Given the description of an element on the screen output the (x, y) to click on. 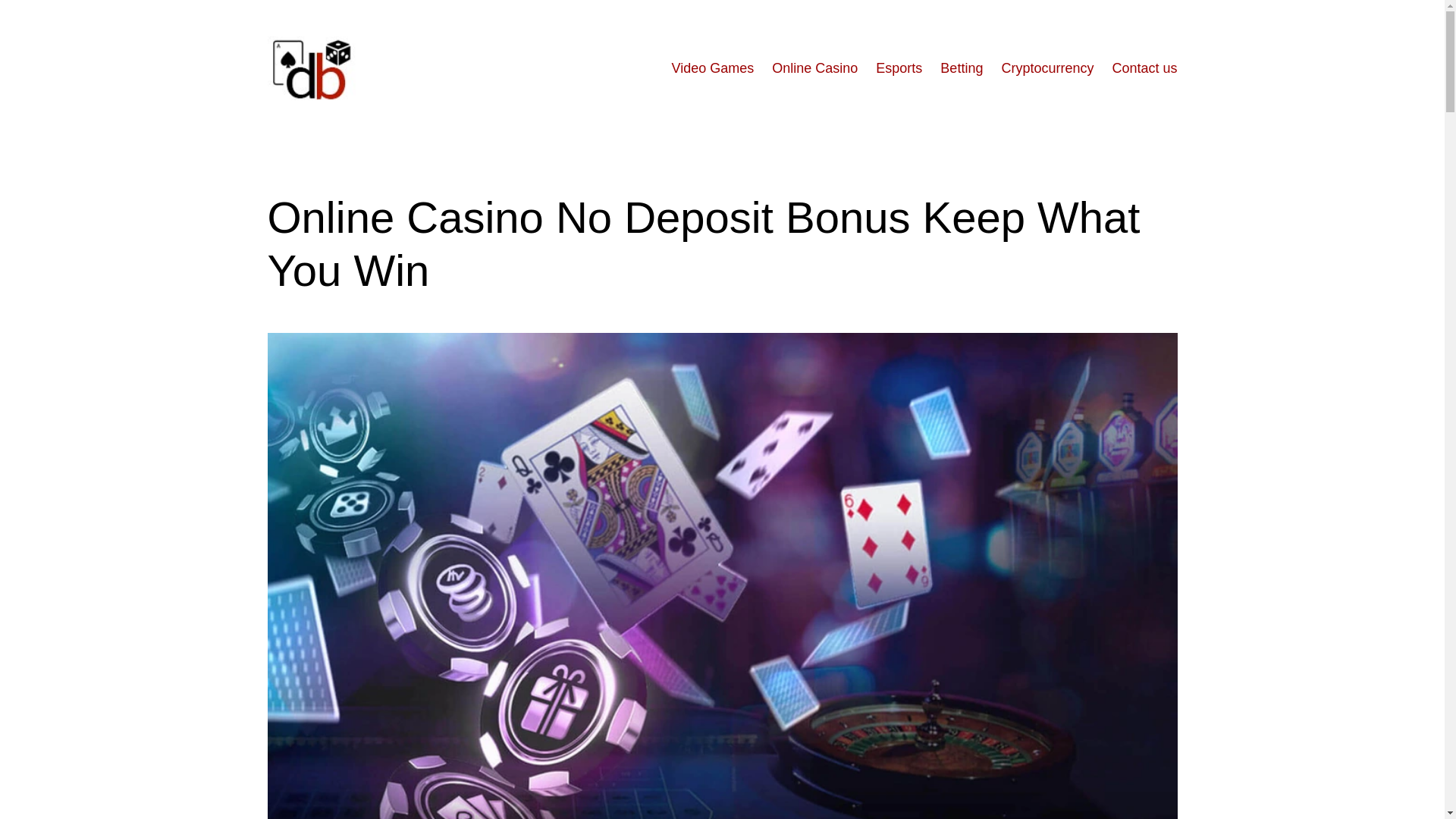
Cryptocurrency (1047, 68)
Esports (898, 68)
Online Casino (814, 68)
Contact us (1144, 68)
Video Games (712, 68)
Betting (961, 68)
